Given the description of an element on the screen output the (x, y) to click on. 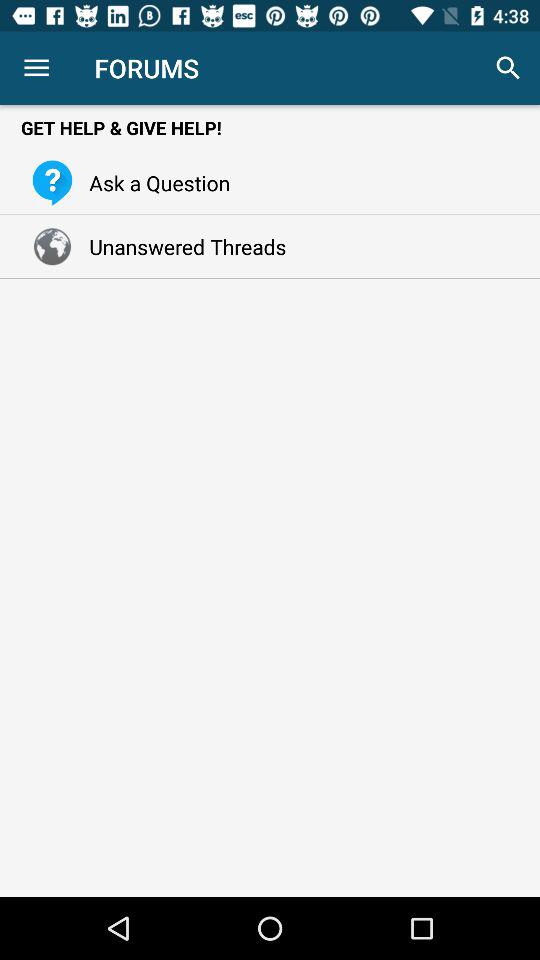
swipe to ask a question icon (154, 182)
